Given the description of an element on the screen output the (x, y) to click on. 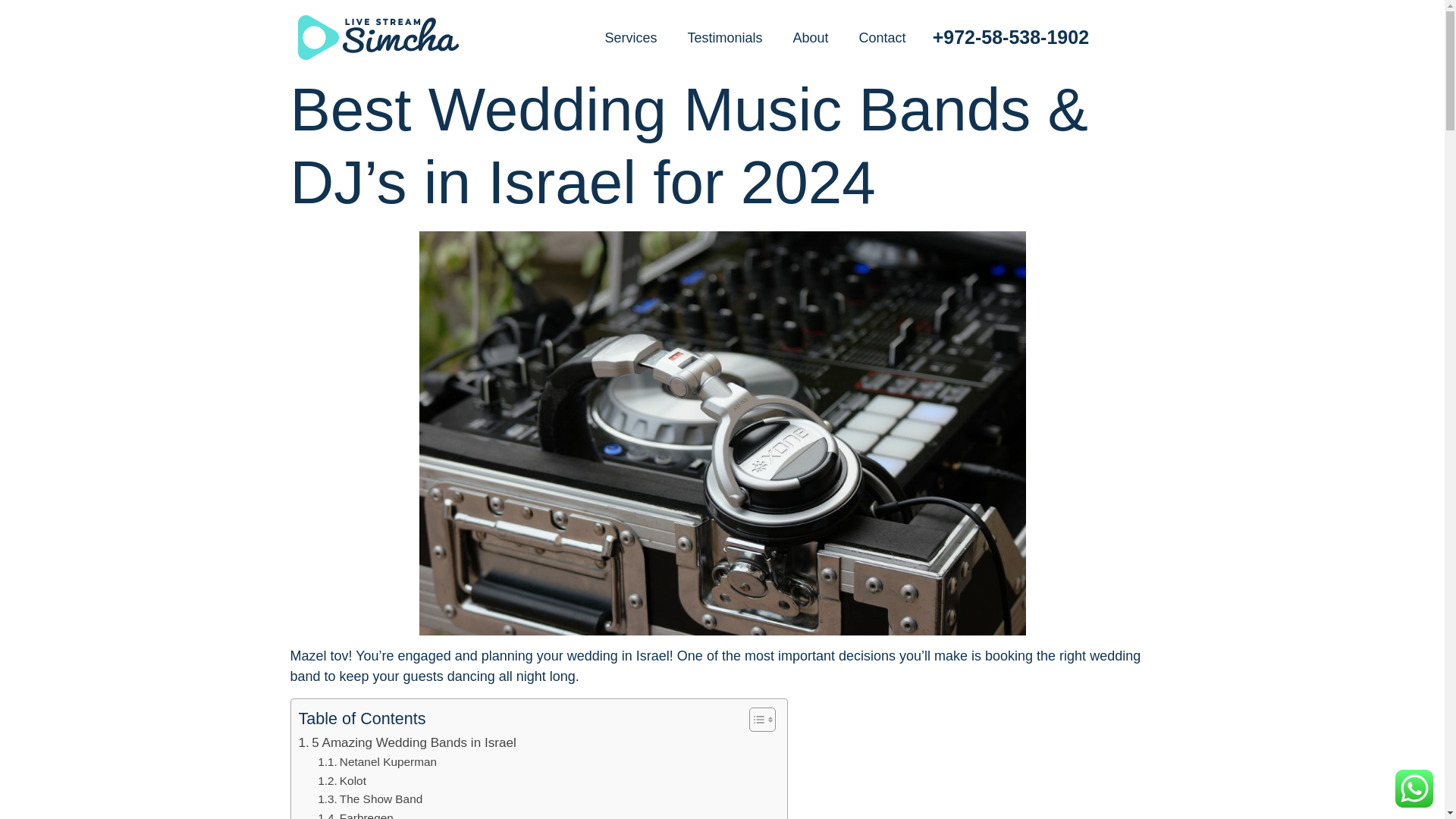
The Show Band (369, 799)
5 Amazing Wedding Bands in Israel (407, 742)
The Show Band (369, 799)
Netanel Kuperman (376, 762)
Netanel Kuperman (376, 762)
Contact (882, 36)
5 Amazing Wedding Bands in Israel (407, 742)
About (810, 36)
Testimonials (724, 36)
Services (630, 36)
